Given the description of an element on the screen output the (x, y) to click on. 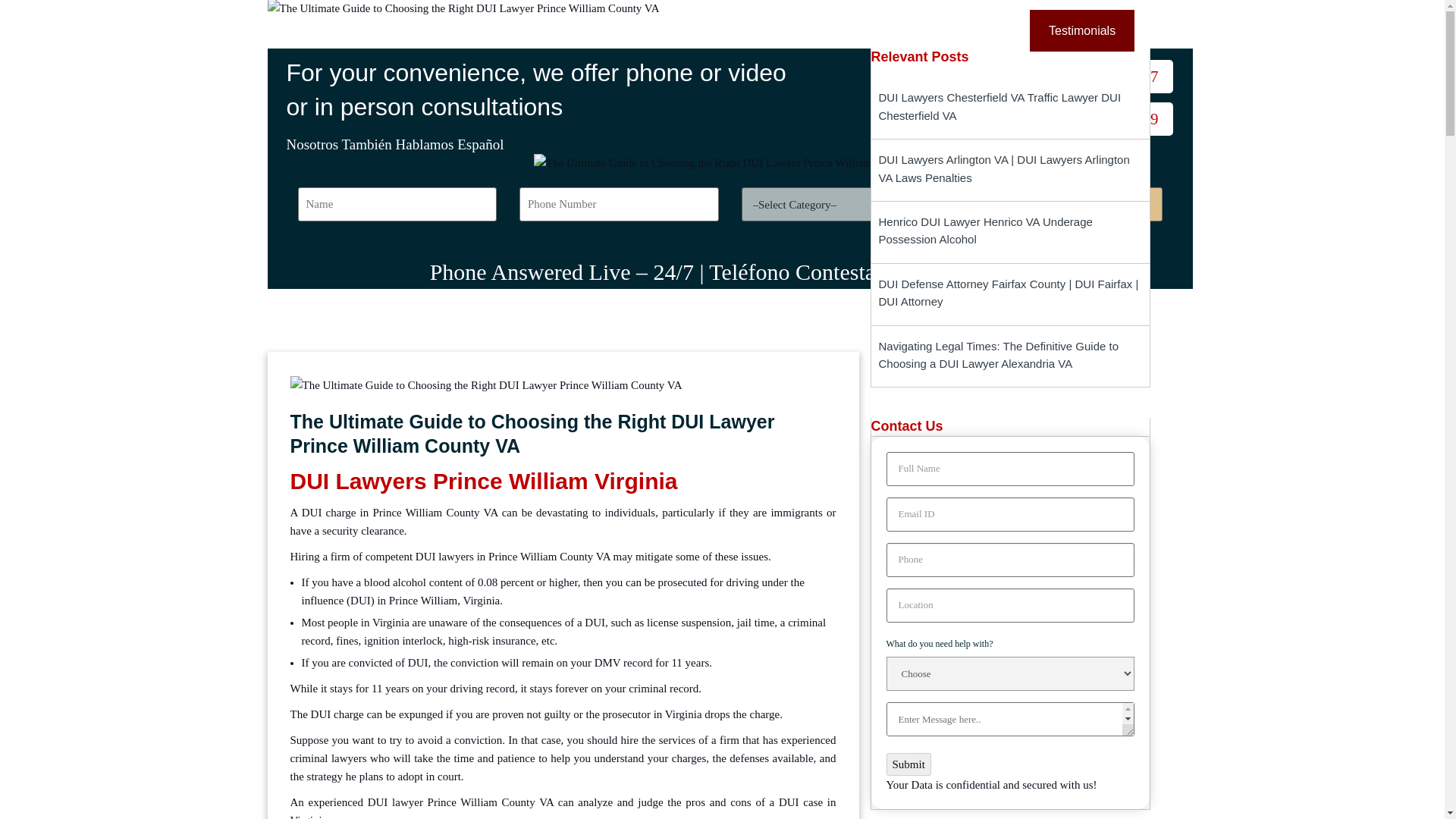
Our Team (880, 29)
Practice Areas (610, 29)
Find a lawyer (1061, 204)
Home (523, 29)
1 800 5190549 (1091, 118)
Find a lawyer (1061, 204)
Contact Us (977, 29)
Testimonials (1081, 29)
Submit (907, 763)
Resources (783, 29)
